Given the description of an element on the screen output the (x, y) to click on. 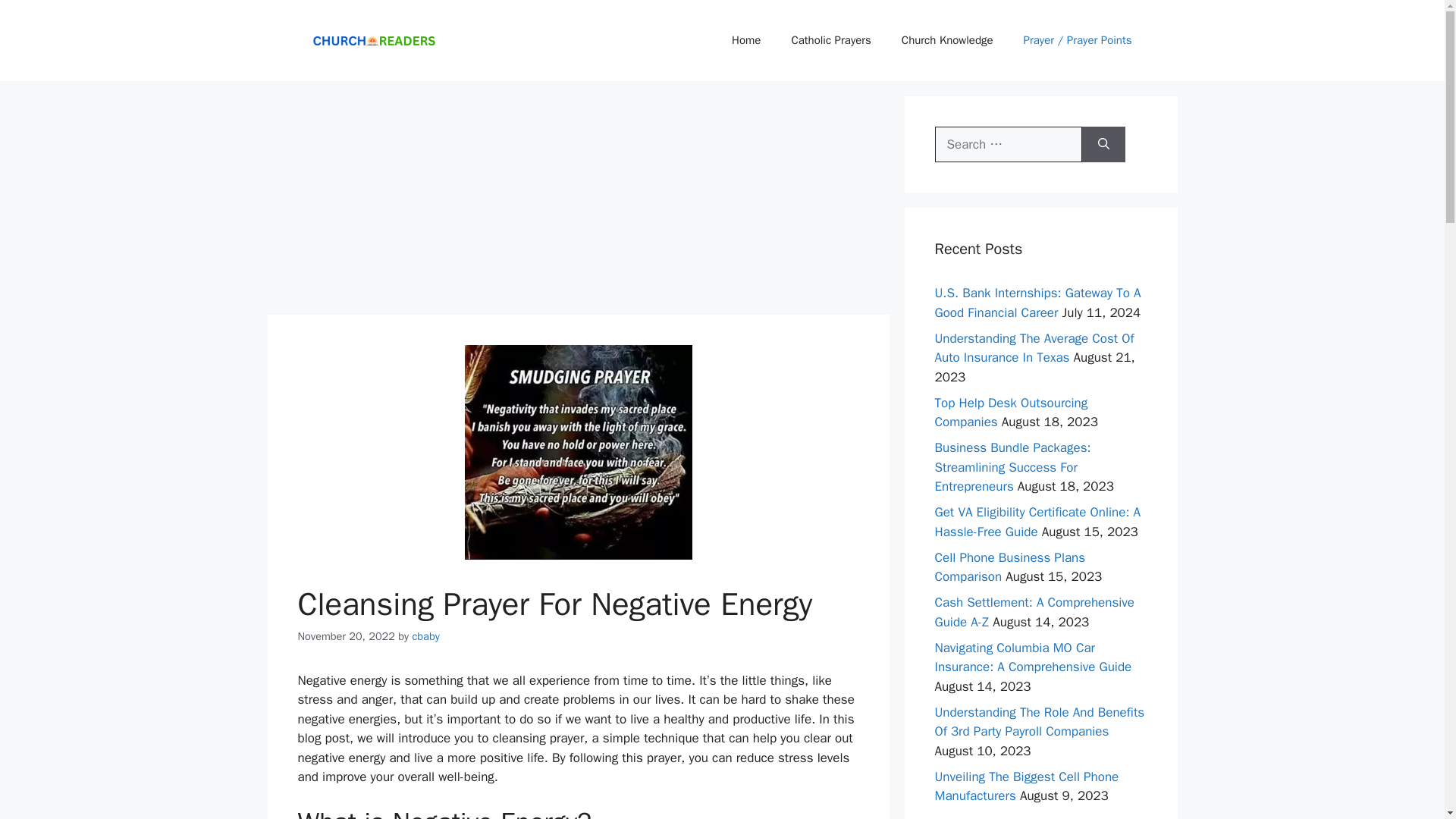
U.S. Bank Internships: Gateway To A Good Financial Career (1037, 303)
View all posts by cbaby (425, 635)
cbaby (425, 635)
Search for: (1007, 144)
Unveiling The Biggest Cell Phone Manufacturers (1026, 786)
Navigating Columbia MO Car Insurance: A Comprehensive Guide (1032, 657)
Cash Settlement: A Comprehensive Guide A-Z (1034, 611)
Church Knowledge (947, 40)
Home (746, 40)
Cell Phone Business Plans Comparison (1009, 567)
